Given the description of an element on the screen output the (x, y) to click on. 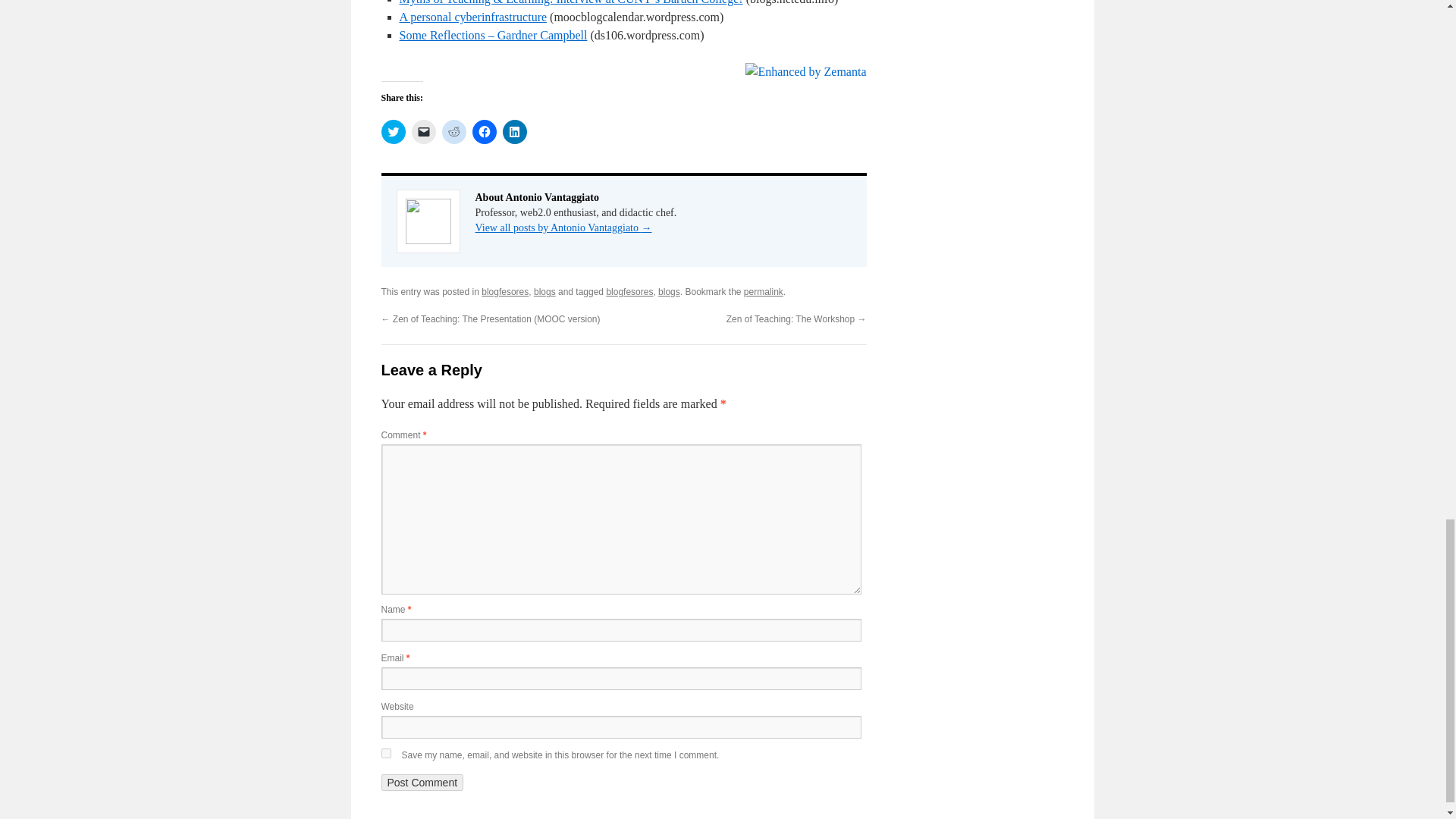
A personal cyberinfrastructure (472, 16)
Post Comment (421, 782)
yes (385, 753)
